Given the description of an element on the screen output the (x, y) to click on. 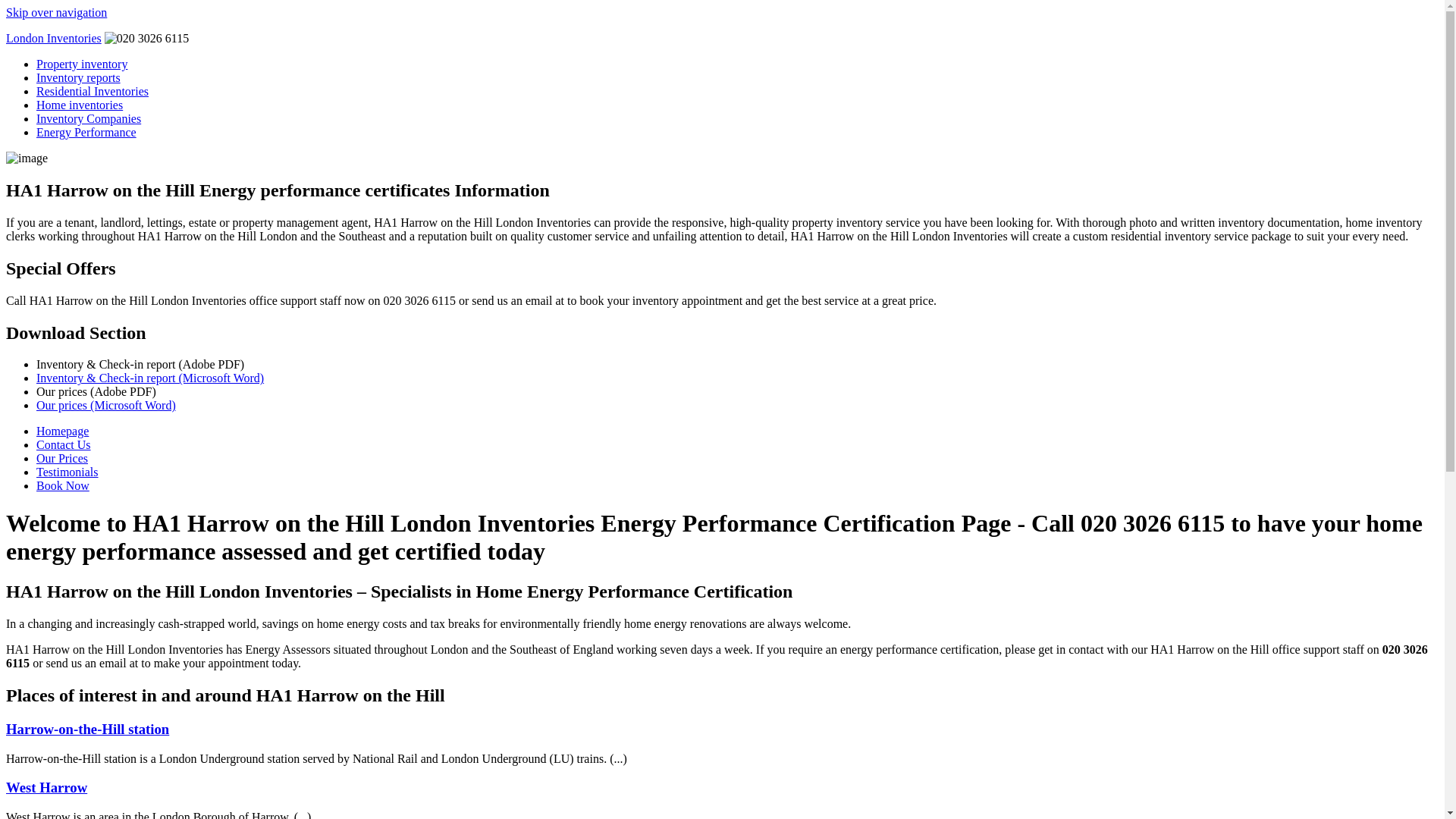
Harrow-on-the-Hill station (86, 729)
Homepage (62, 431)
Testimonials (67, 472)
West Harrow (46, 787)
Book Now (62, 485)
Skip over navigation (55, 11)
Inventory Companies (88, 118)
Home inventories (79, 104)
Energy Performance (86, 132)
London Inventories (53, 38)
London Inventories (53, 38)
Contact Us (63, 444)
Inventory reports (78, 77)
Property inventory (82, 63)
Our Prices (61, 458)
